Given the description of an element on the screen output the (x, y) to click on. 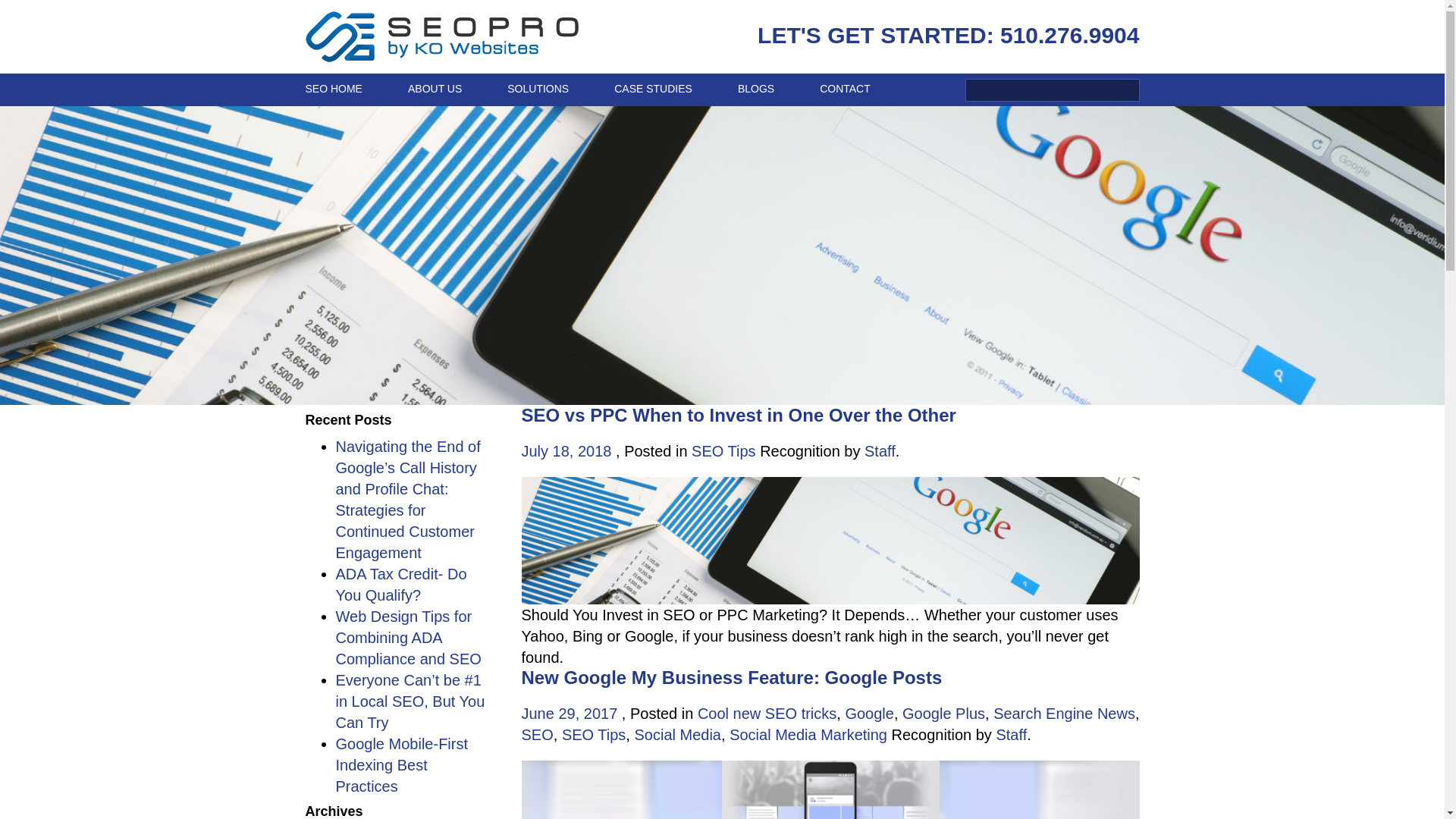
SOLUTIONS (537, 88)
ABOUT US (434, 88)
SEO examples San Francisco Bay Area Reviews (652, 88)
About the best SEO company in the Bay Area (434, 88)
CONTACT (833, 88)
Bay Area SEO San Francisco (344, 88)
SEO Pro (441, 36)
LET'S GET STARTED: 510.276.9904 (947, 34)
CASE STUDIES (652, 88)
SEO HOME (344, 88)
